Given the description of an element on the screen output the (x, y) to click on. 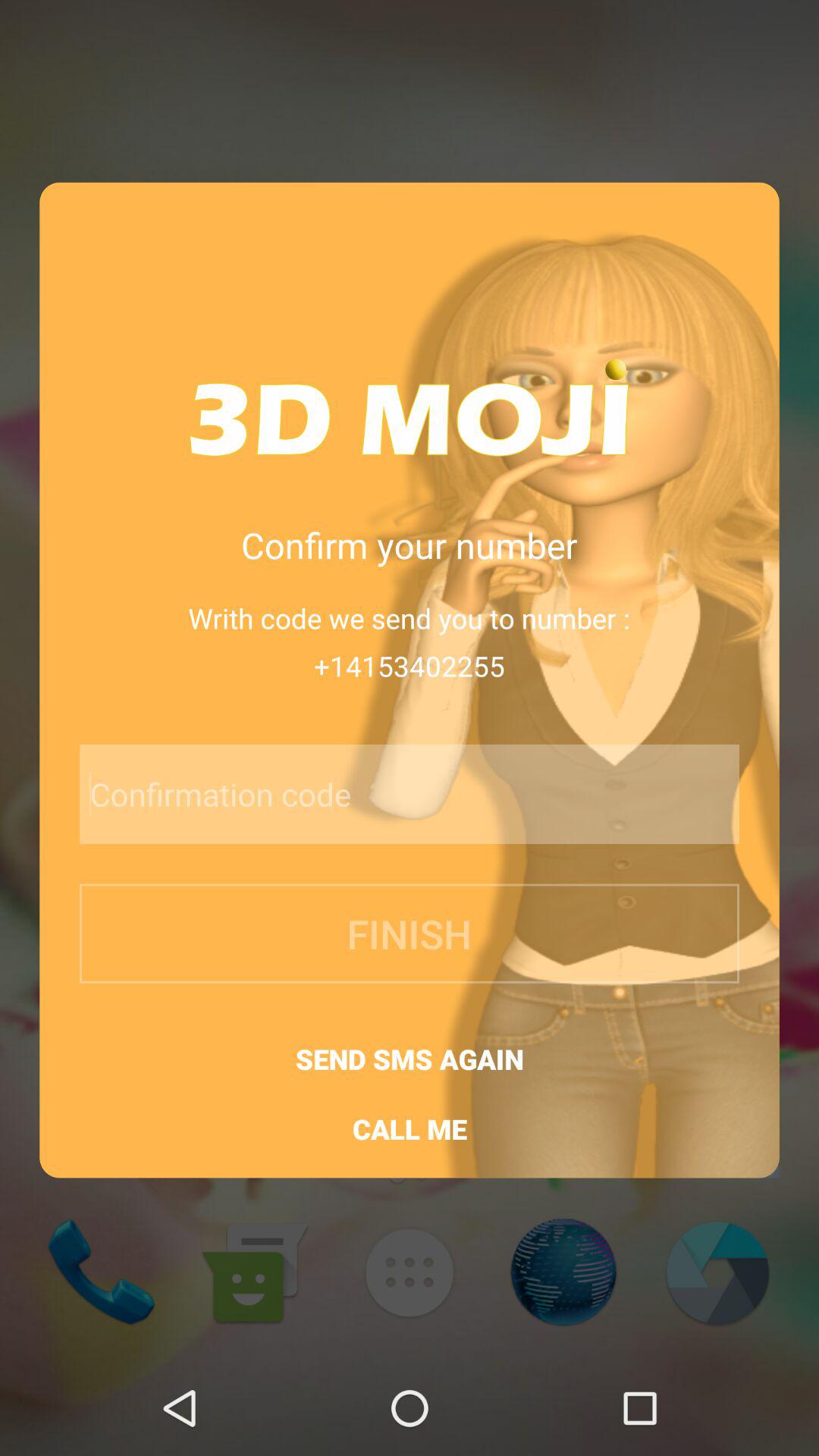
turn off finish button (409, 933)
